Given the description of an element on the screen output the (x, y) to click on. 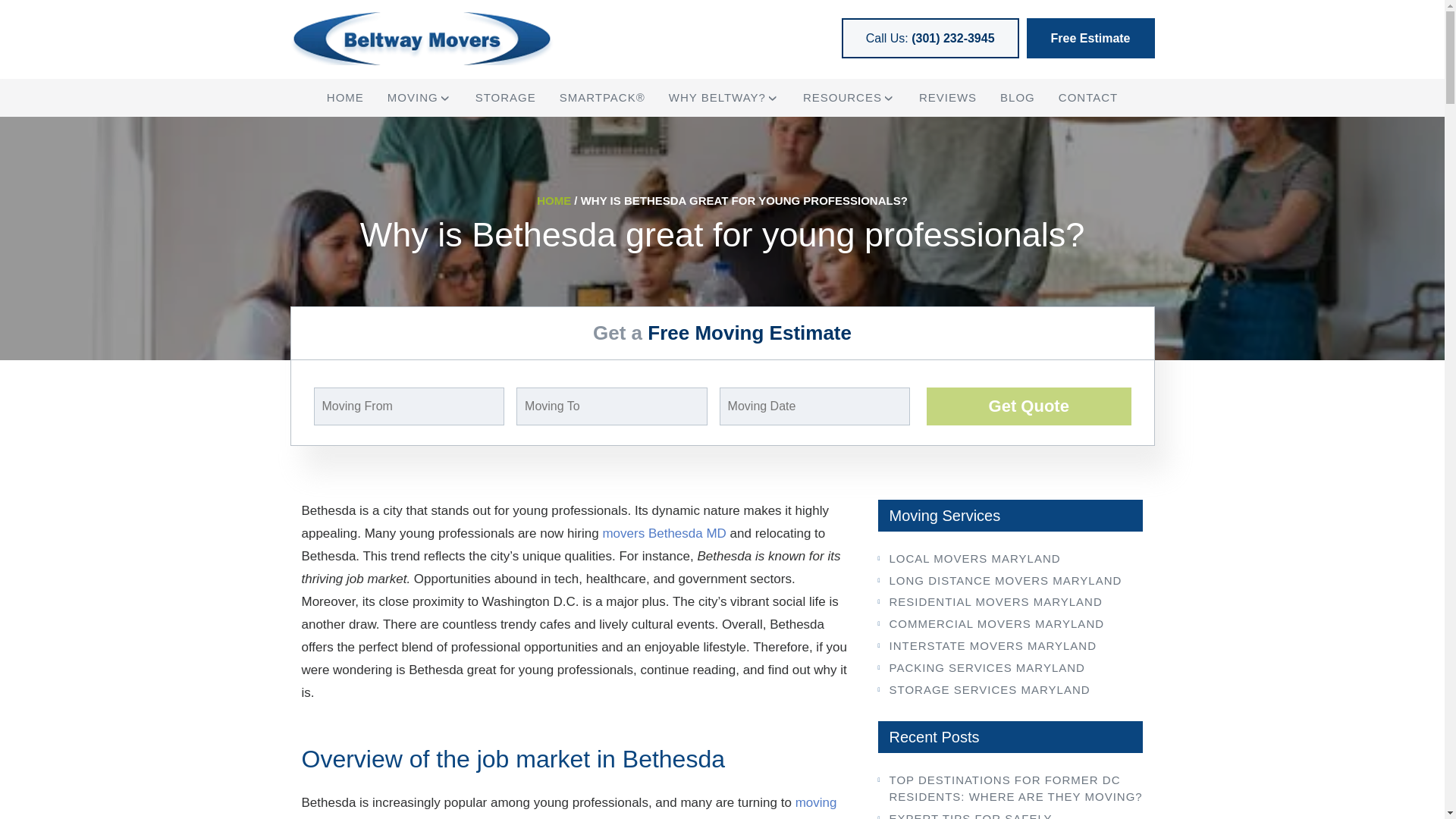
Get Quote (1028, 406)
MOVING (412, 97)
WHY BELTWAY? (716, 97)
STORAGE (505, 97)
RESOURCES (842, 97)
Free Estimate (1090, 38)
